Given the description of an element on the screen output the (x, y) to click on. 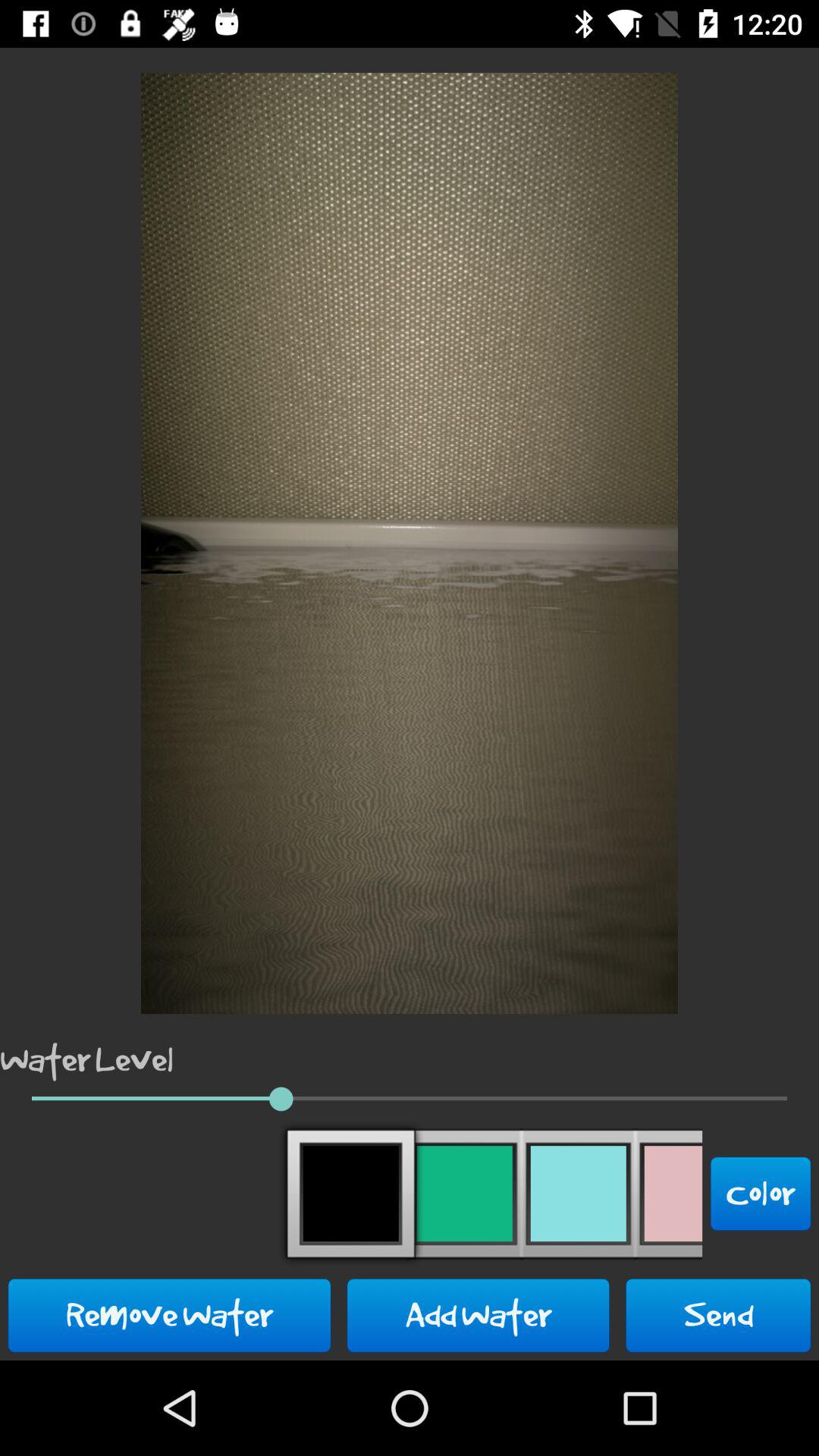
turn on the send (718, 1315)
